Given the description of an element on the screen output the (x, y) to click on. 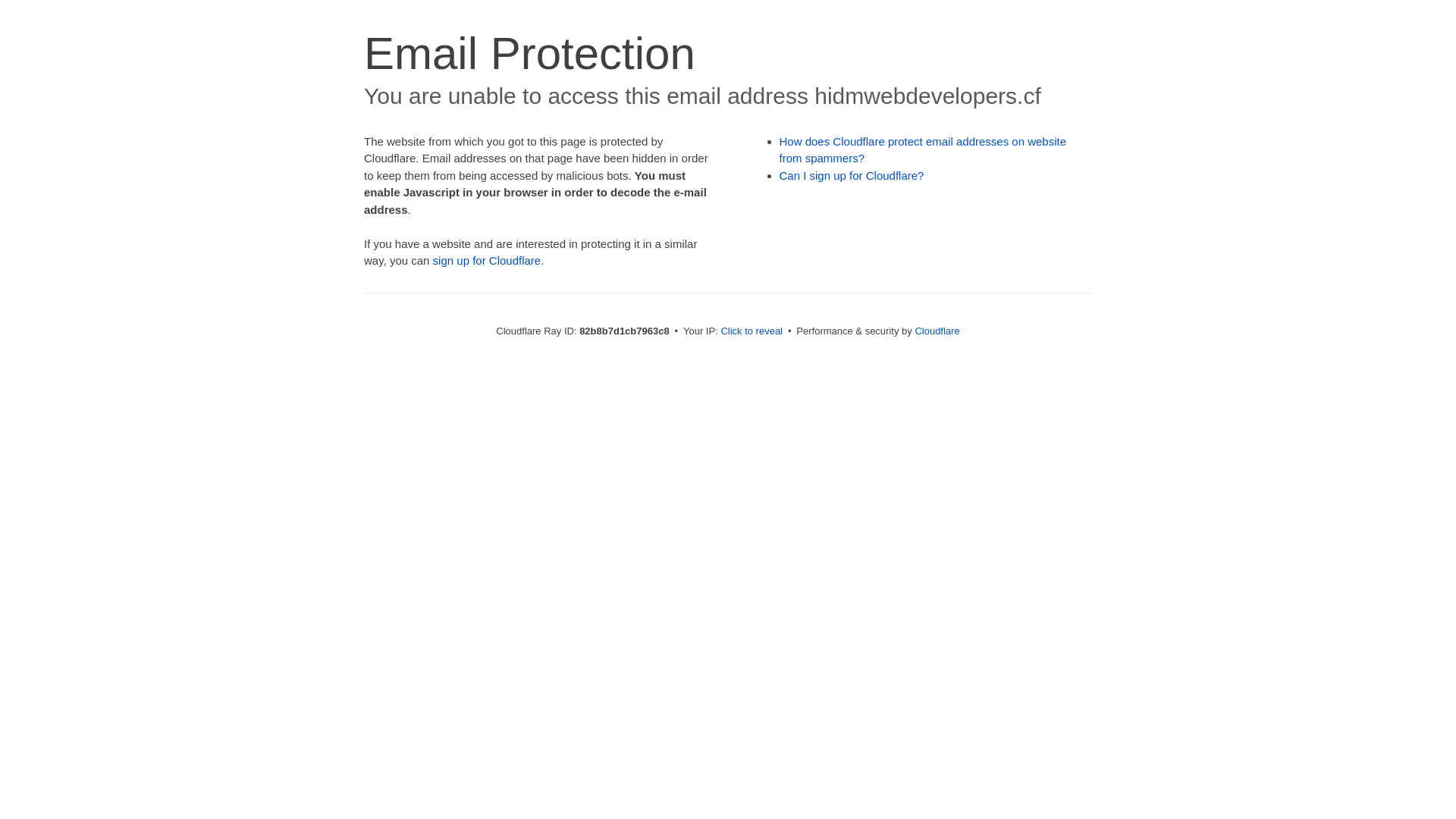
sign up for Cloudflare Element type: text (487, 260)
Can I sign up for Cloudflare? Element type: text (851, 175)
Cloudflare Element type: text (936, 330)
Click to reveal Element type: text (751, 330)
